Given the description of an element on the screen output the (x, y) to click on. 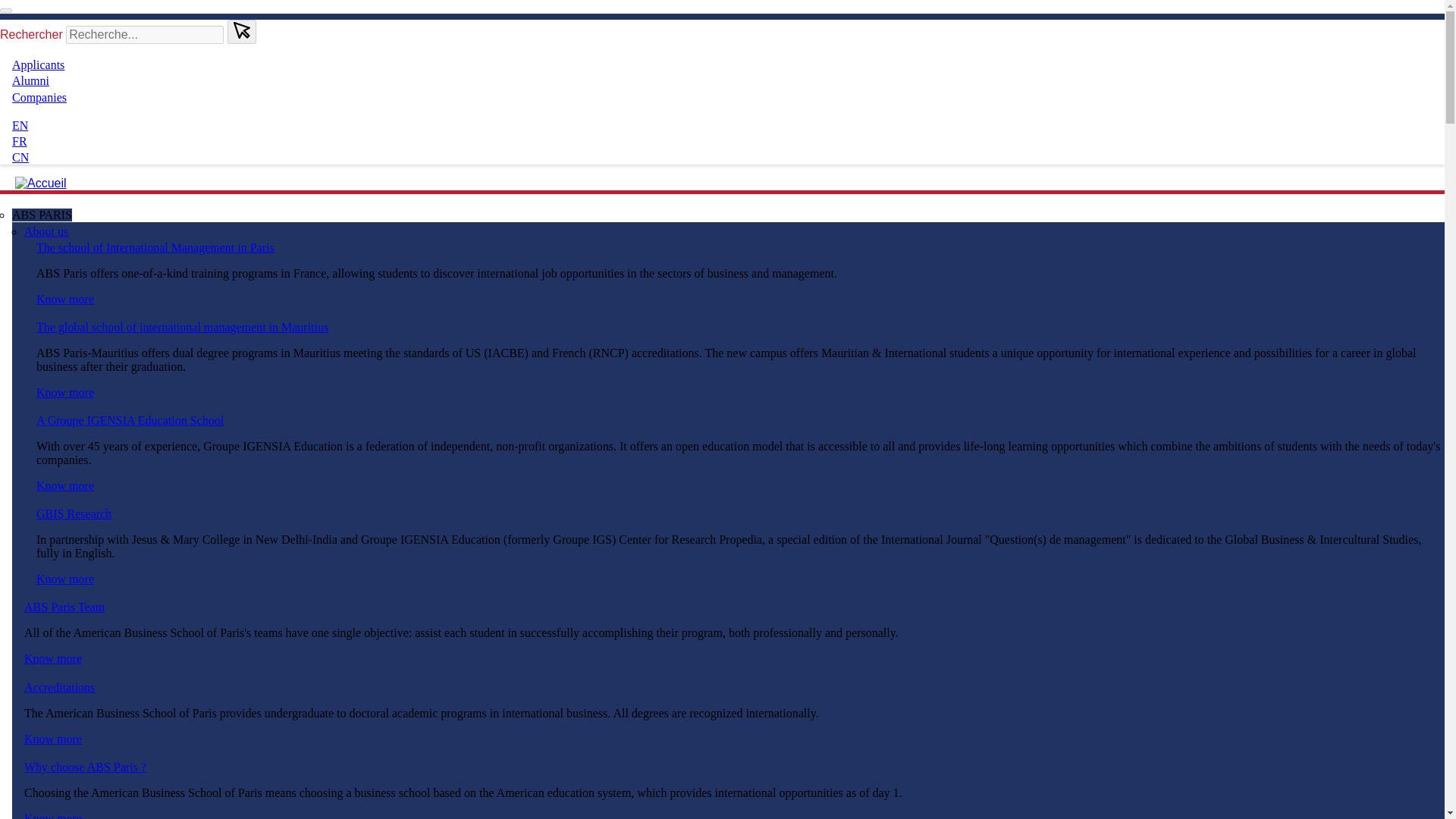
GBIS Research (74, 513)
CN (20, 156)
Know more (52, 815)
Lancer la recherche dans le site (241, 30)
Companies (38, 97)
An IGS Group school (65, 485)
Know more (65, 485)
Alumni (30, 80)
ABS Paris Team (64, 606)
